Given the description of an element on the screen output the (x, y) to click on. 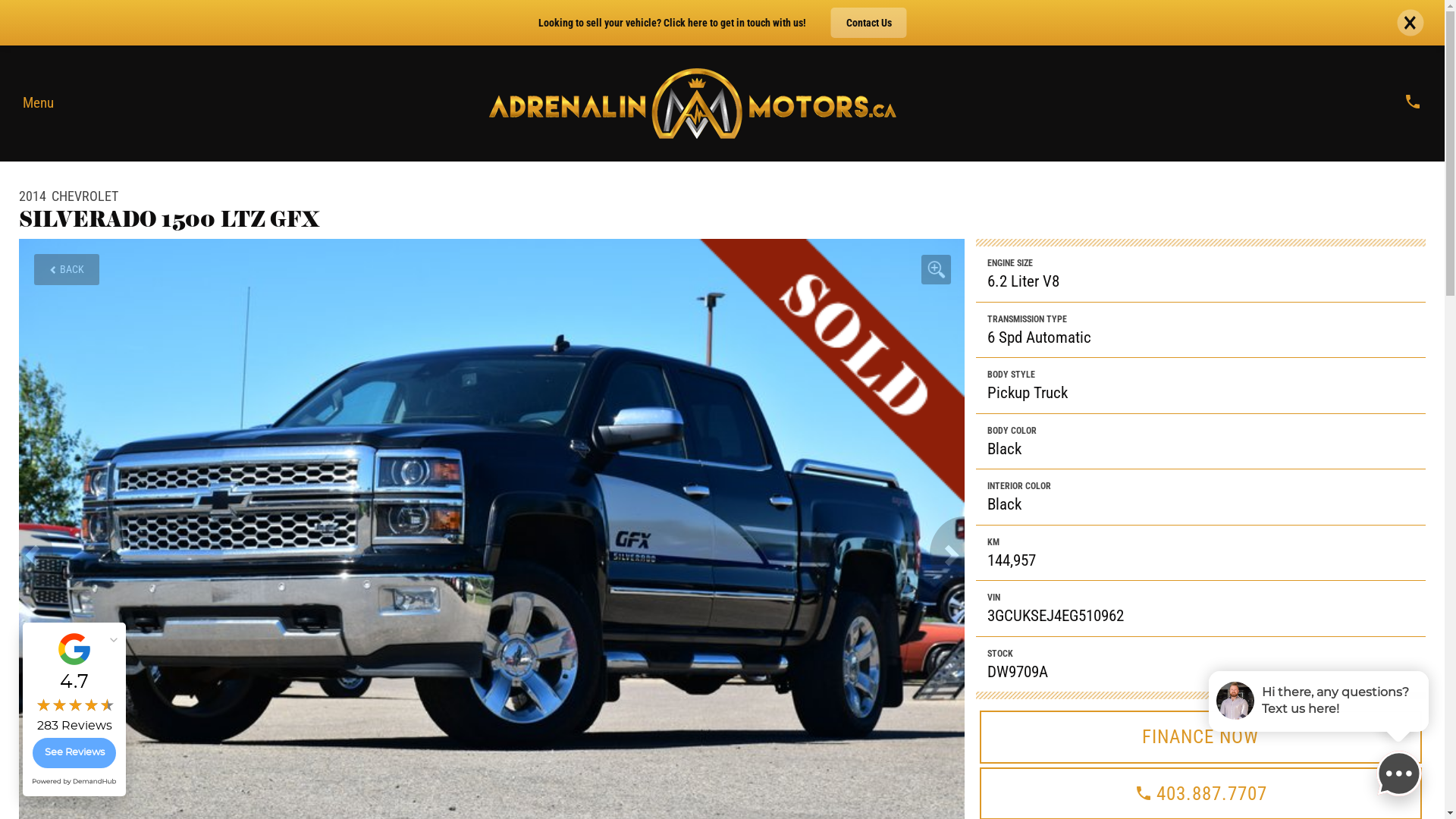
Contact Us Element type: text (868, 22)
See Reviews Element type: text (74, 752)
BACK Element type: text (66, 269)
FINANCE NOW Element type: text (1200, 736)
